Given the description of an element on the screen output the (x, y) to click on. 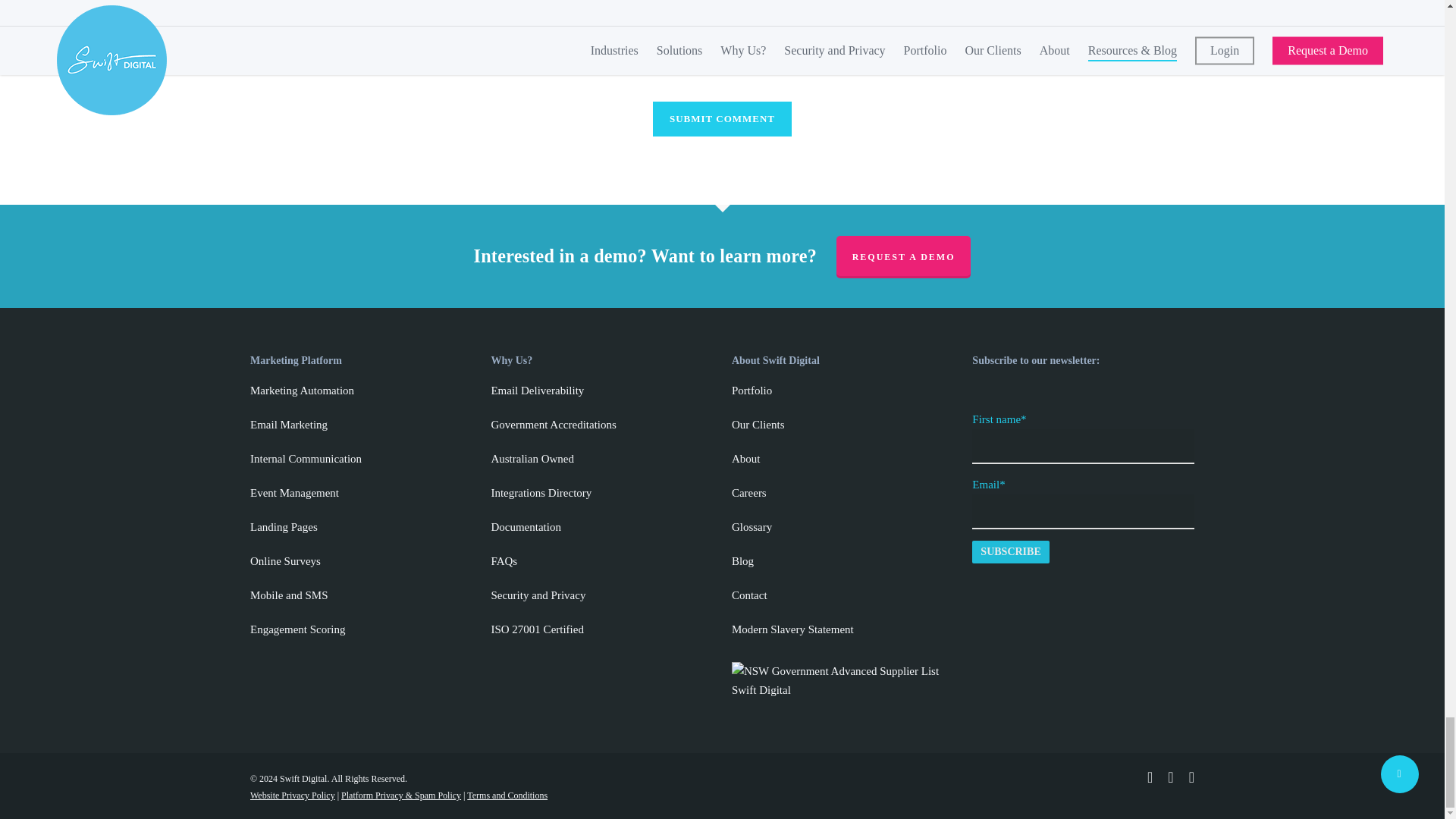
Submit Comment (722, 118)
SUBSCRIBE (1010, 551)
yes (258, 54)
